Given the description of an element on the screen output the (x, y) to click on. 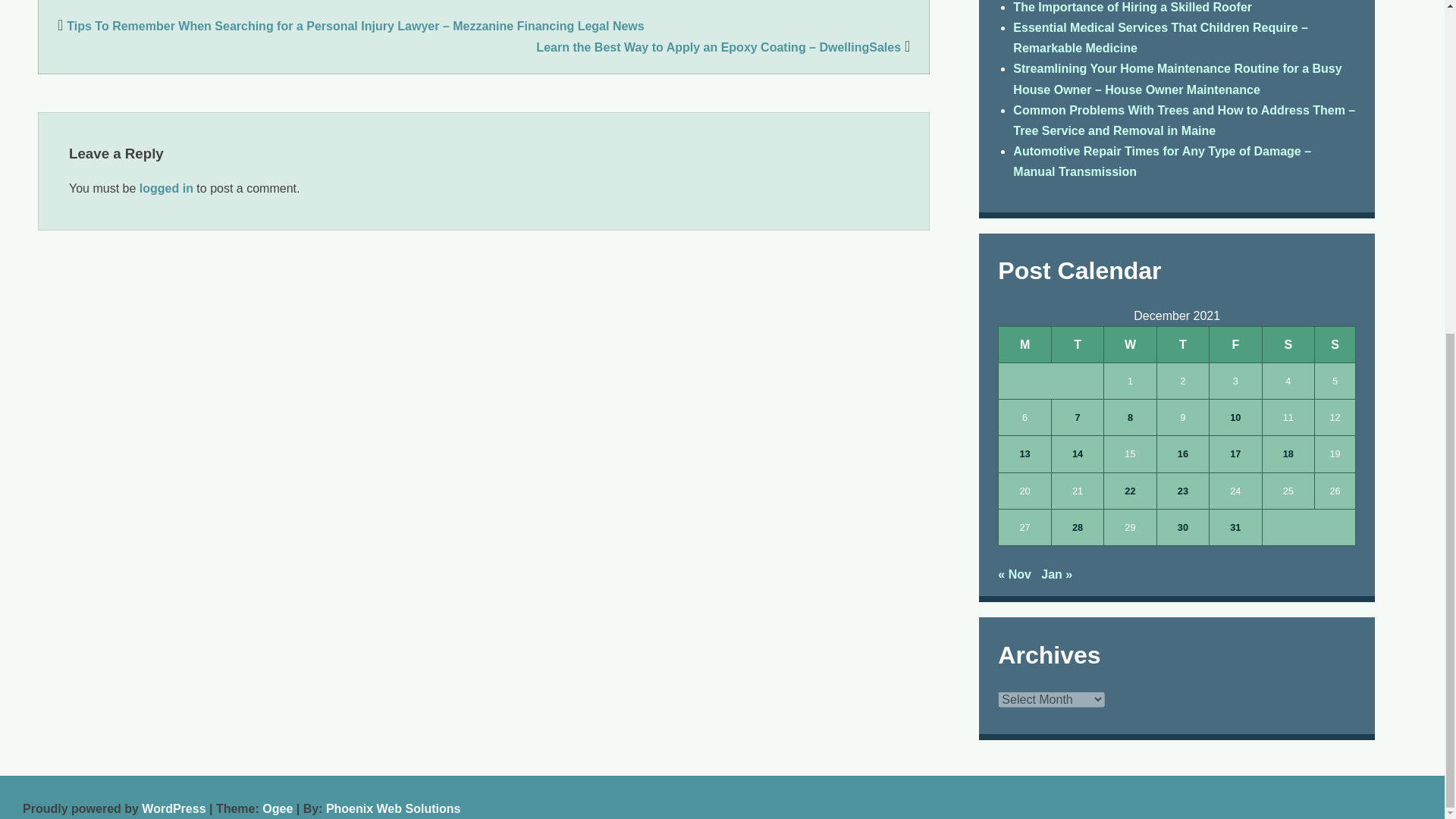
10 (1234, 416)
WordPress (173, 808)
Monday (1024, 343)
16 (1182, 453)
Friday (1235, 343)
Tuesday (1077, 343)
31 (1234, 527)
13 (1023, 453)
30 (1182, 527)
Sunday (1334, 343)
